Given the description of an element on the screen output the (x, y) to click on. 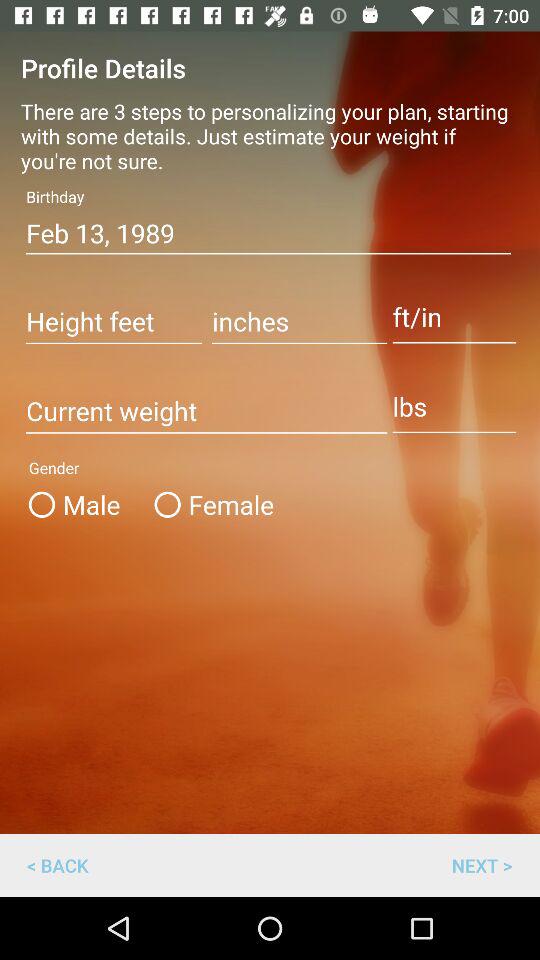
press item to the left of female icon (83, 504)
